Given the description of an element on the screen output the (x, y) to click on. 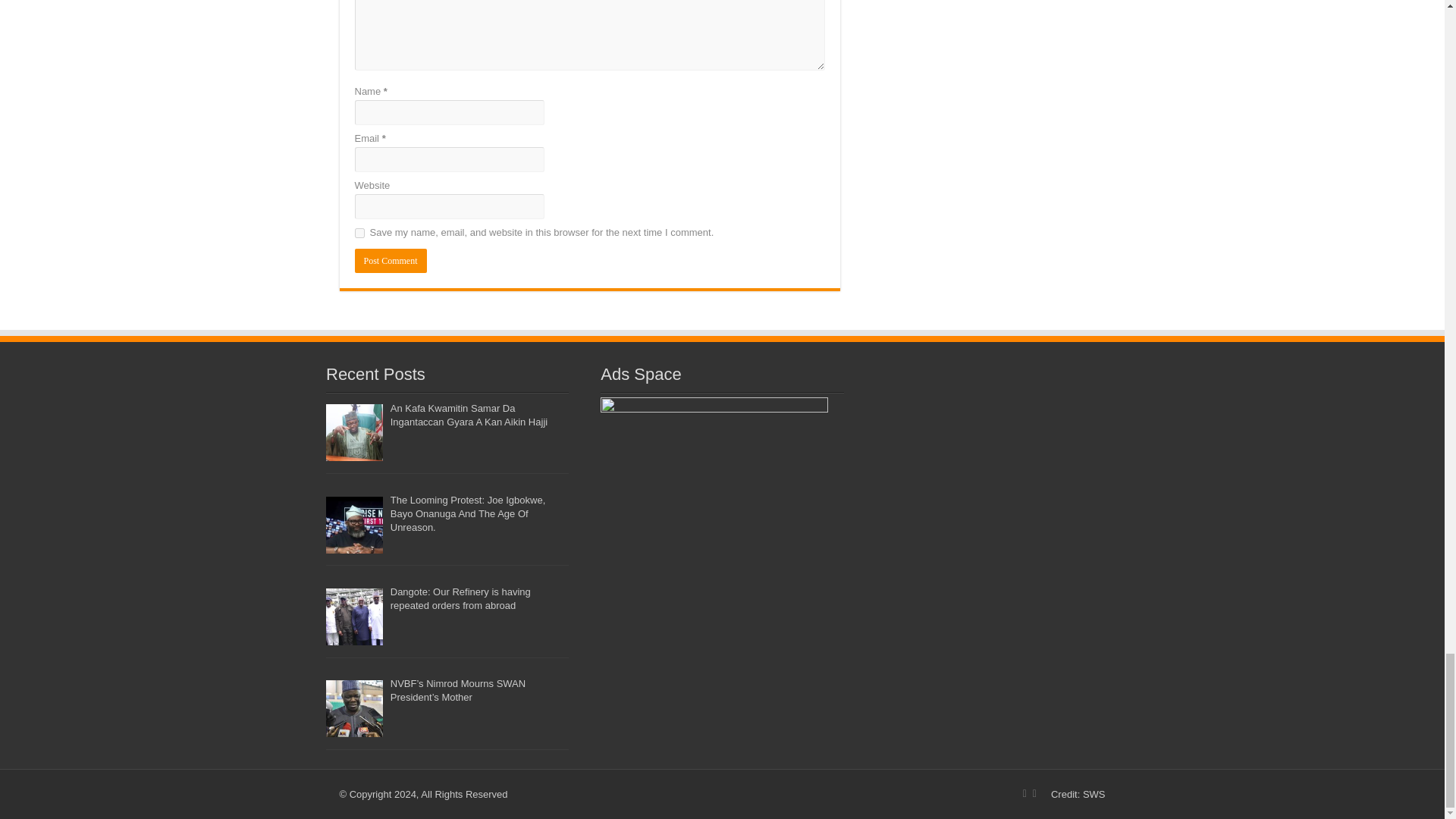
yes (360, 233)
Post Comment (390, 260)
